Given the description of an element on the screen output the (x, y) to click on. 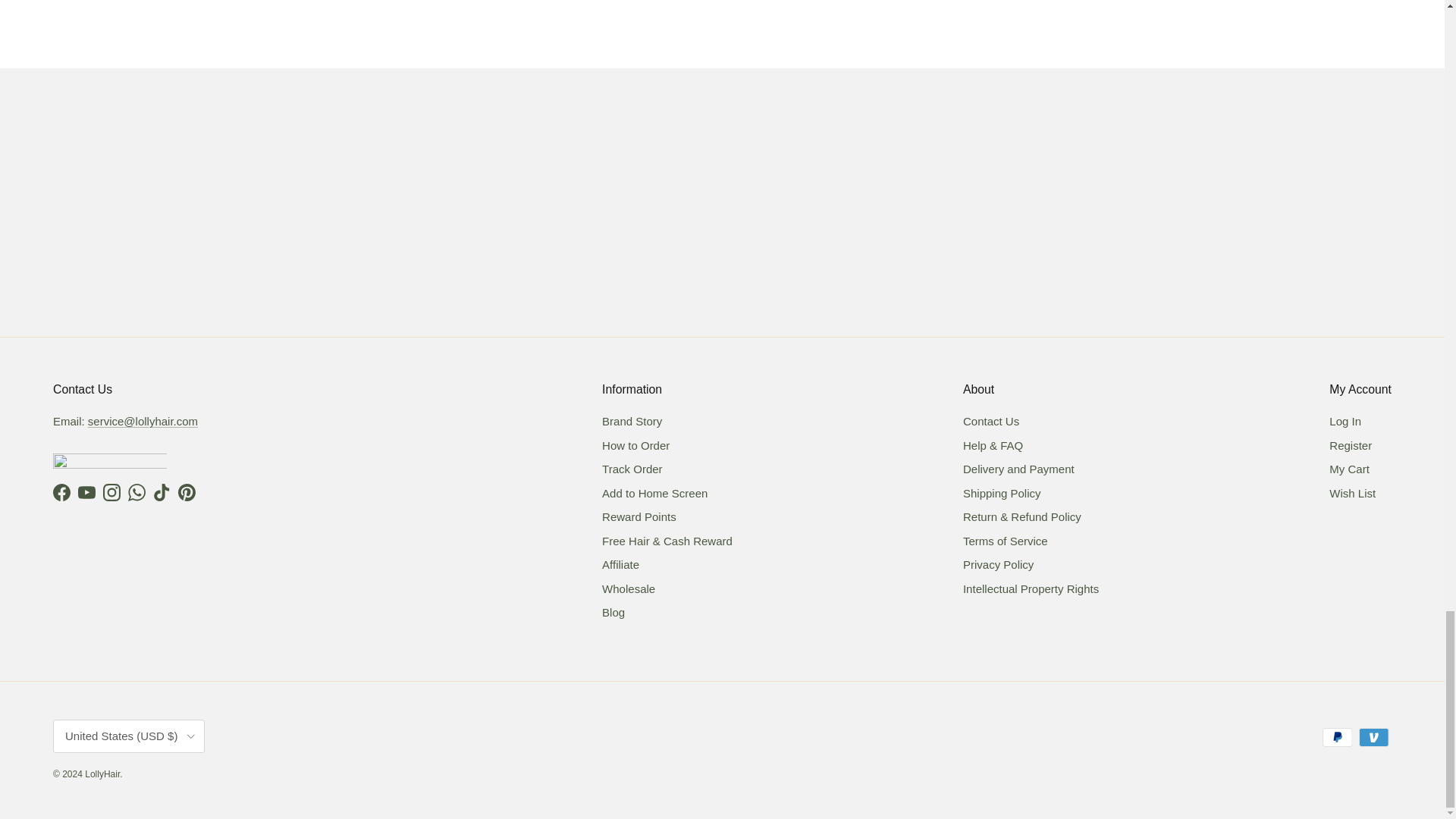
Venmo (1373, 737)
LollyHair on YouTube (87, 492)
LollyHair on WhatsApp (136, 492)
PayPal (1337, 737)
LollyHair on Instagram (111, 492)
LollyHair on Facebook (60, 492)
